Given the description of an element on the screen output the (x, y) to click on. 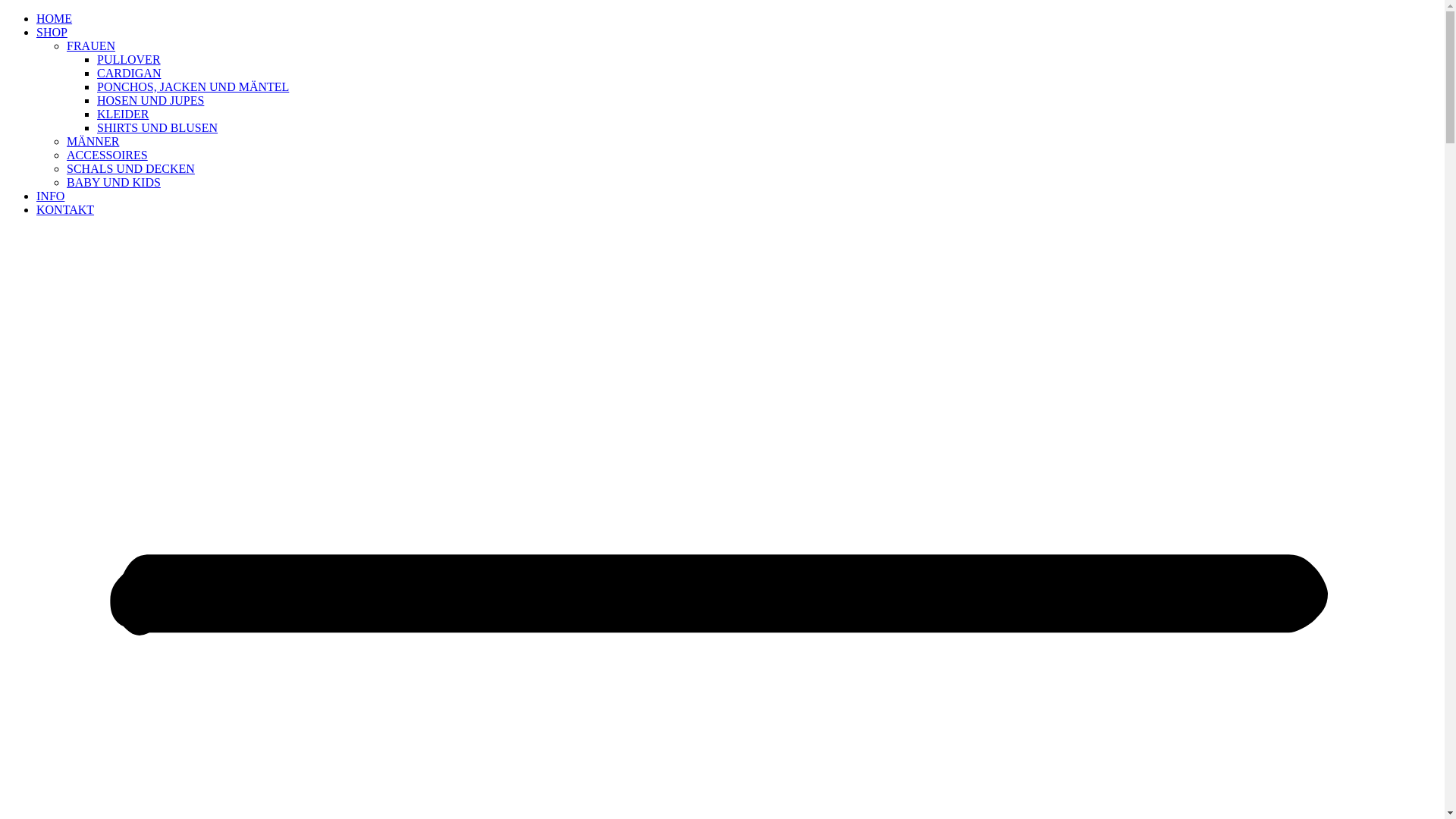
FRAUEN Element type: text (90, 45)
HOME Element type: text (54, 18)
INFO Element type: text (50, 195)
CARDIGAN Element type: text (128, 72)
HOSEN UND JUPES Element type: text (150, 100)
BABY UND KIDS Element type: text (113, 181)
ACCESSOIRES Element type: text (106, 154)
SCHALS UND DECKEN Element type: text (130, 168)
SHOP Element type: text (51, 31)
PULLOVER Element type: text (128, 59)
KONTAKT Element type: text (65, 209)
SHIRTS UND BLUSEN Element type: text (157, 127)
KLEIDER Element type: text (122, 113)
